Given the description of an element on the screen output the (x, y) to click on. 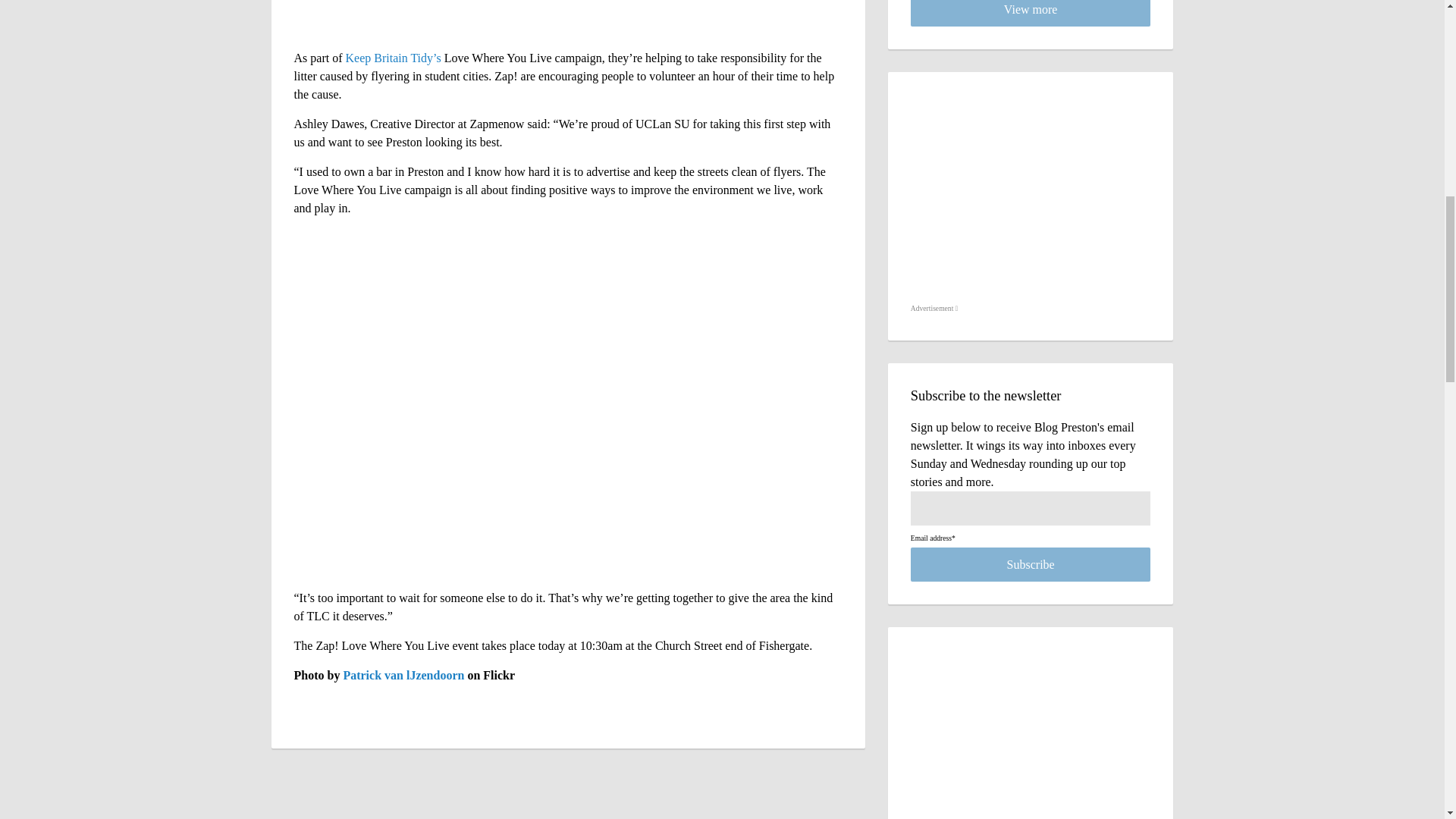
Patrick van lJzendoorn (403, 675)
Subscribe (1031, 564)
View more (1031, 13)
